Given the description of an element on the screen output the (x, y) to click on. 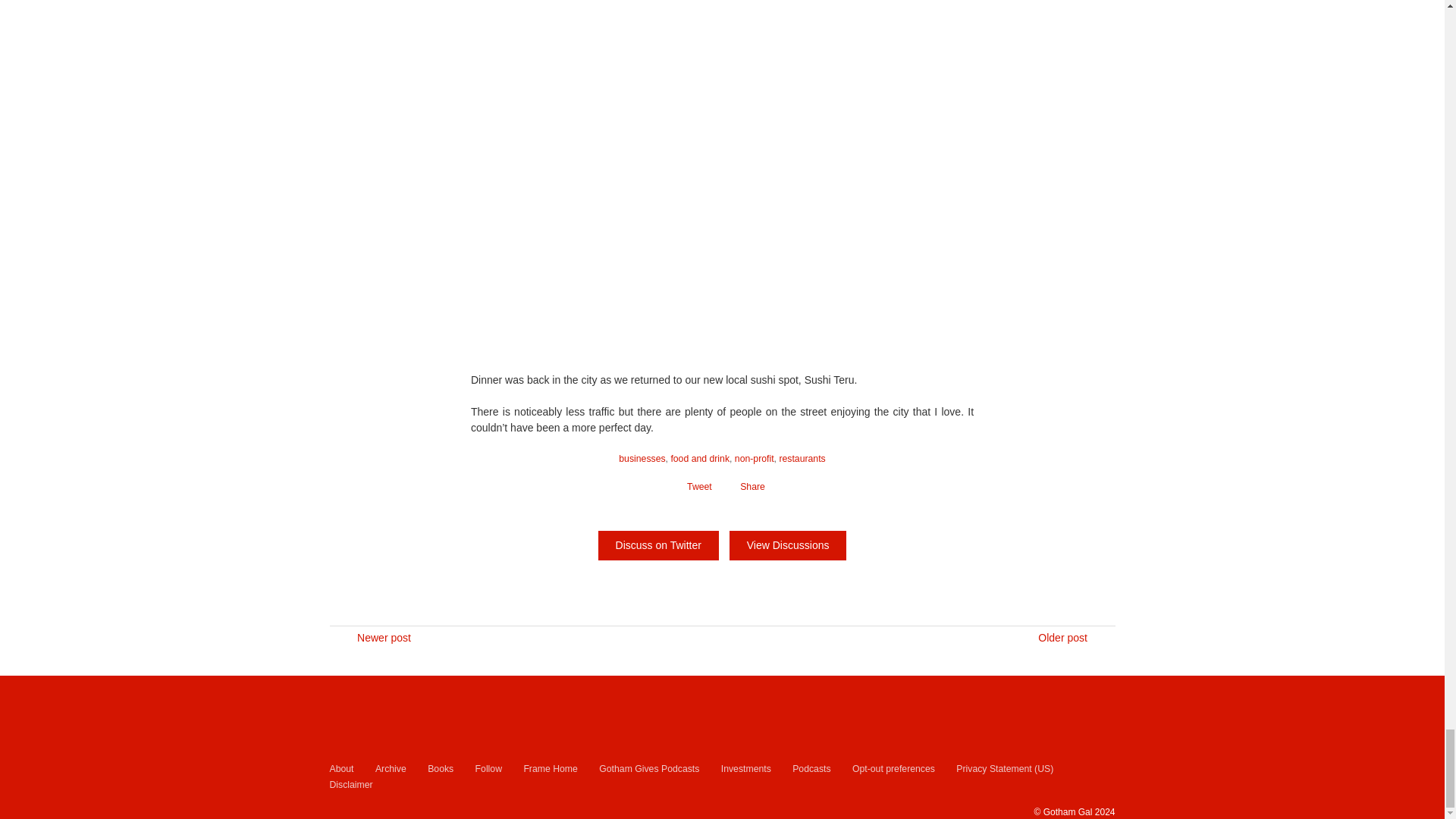
businesses (641, 458)
Opt-out preferences (892, 768)
Investments (745, 768)
Archive (390, 768)
Follow (489, 768)
non-profit (754, 458)
View Discussions (788, 544)
Gotham Gives Podcasts (648, 768)
Tweet (696, 486)
food and drink (699, 458)
